Given the description of an element on the screen output the (x, y) to click on. 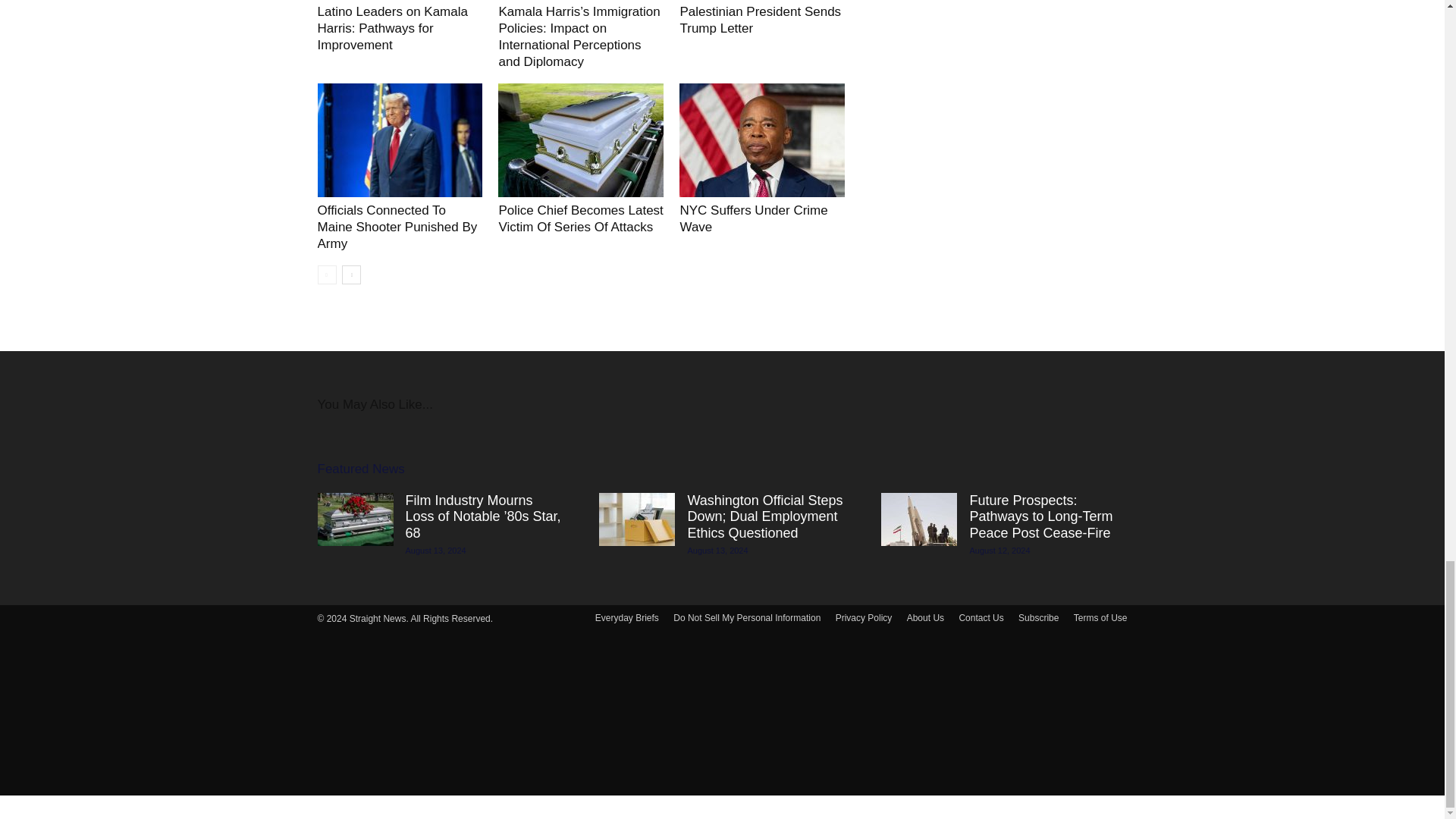
Police Chief Becomes Latest Victim Of Series Of Attacks (579, 218)
Palestinian President Sends Trump Letter (760, 20)
Officials Connected To Maine Shooter Punished By Army (399, 140)
Palestinian President Sends Trump Letter (760, 20)
Latino Leaders on Kamala Harris: Pathways for Improvement (392, 28)
Latino Leaders on Kamala Harris: Pathways for Improvement (392, 28)
Officials Connected To Maine Shooter Punished By Army (397, 226)
NYC Suffers Under Crime Wave (753, 218)
